Given the description of an element on the screen output the (x, y) to click on. 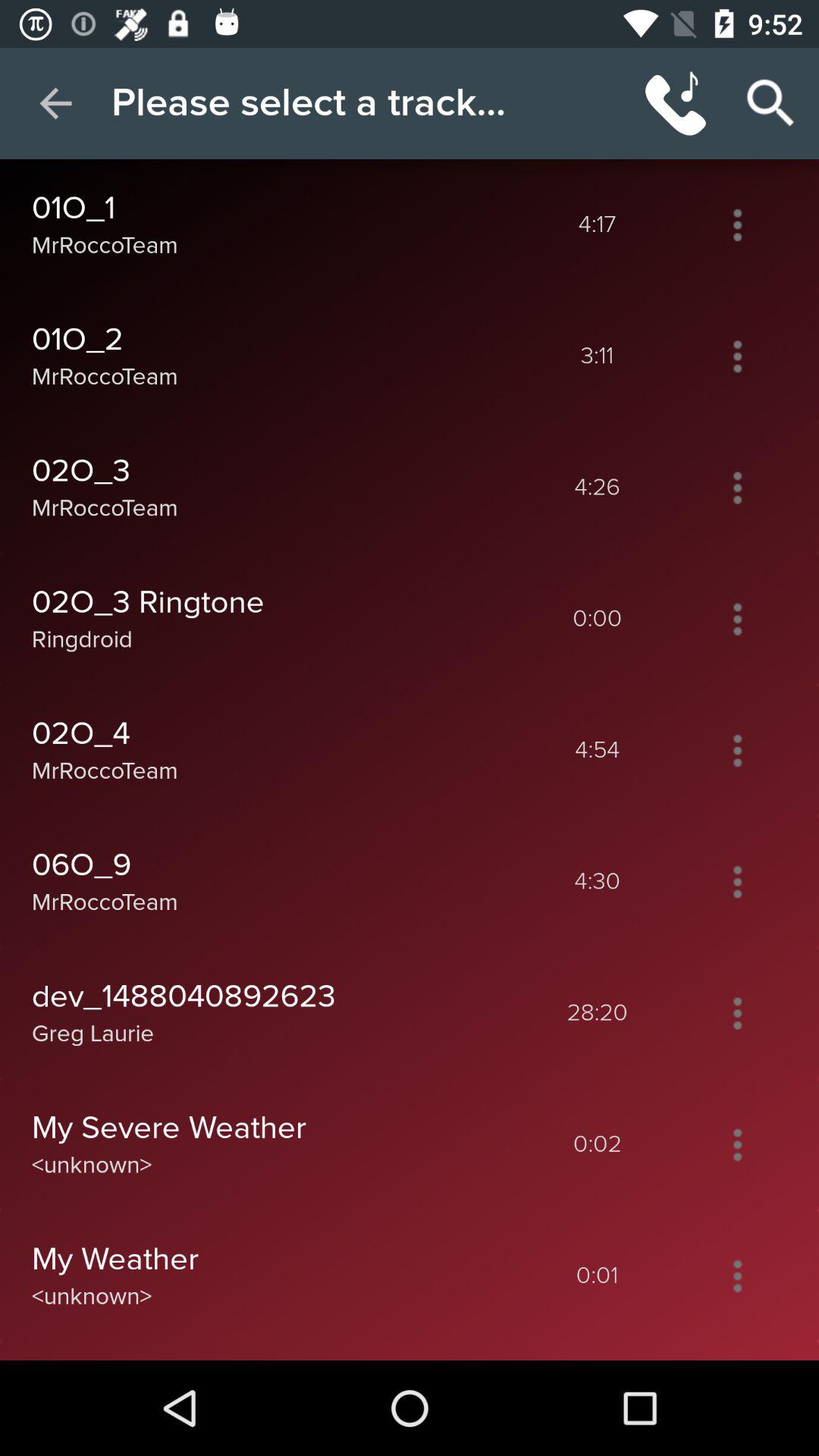
select the second more button (737, 356)
click on more options icon left to 000 (737, 618)
click the search button on the top right corner of the web page (771, 103)
